Given the description of an element on the screen output the (x, y) to click on. 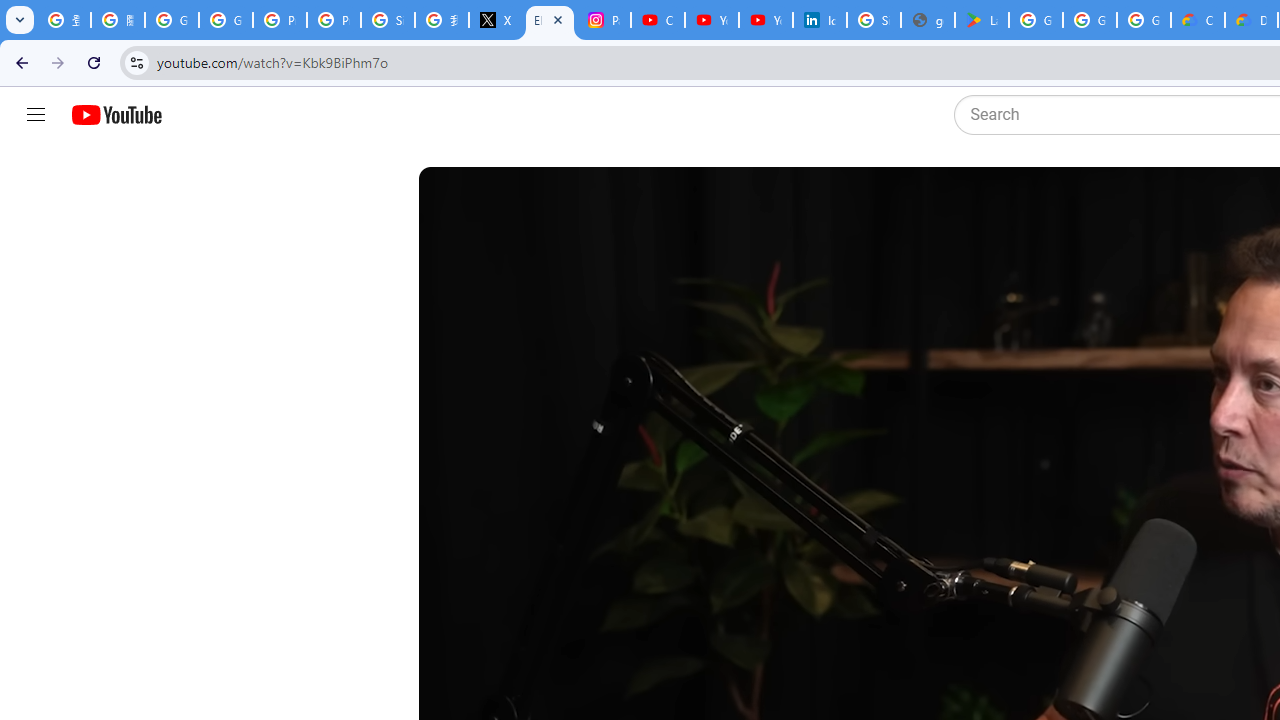
X (495, 20)
Google Workspace - Specific Terms (1089, 20)
Customer Care | Google Cloud (1197, 20)
